Given the description of an element on the screen output the (x, y) to click on. 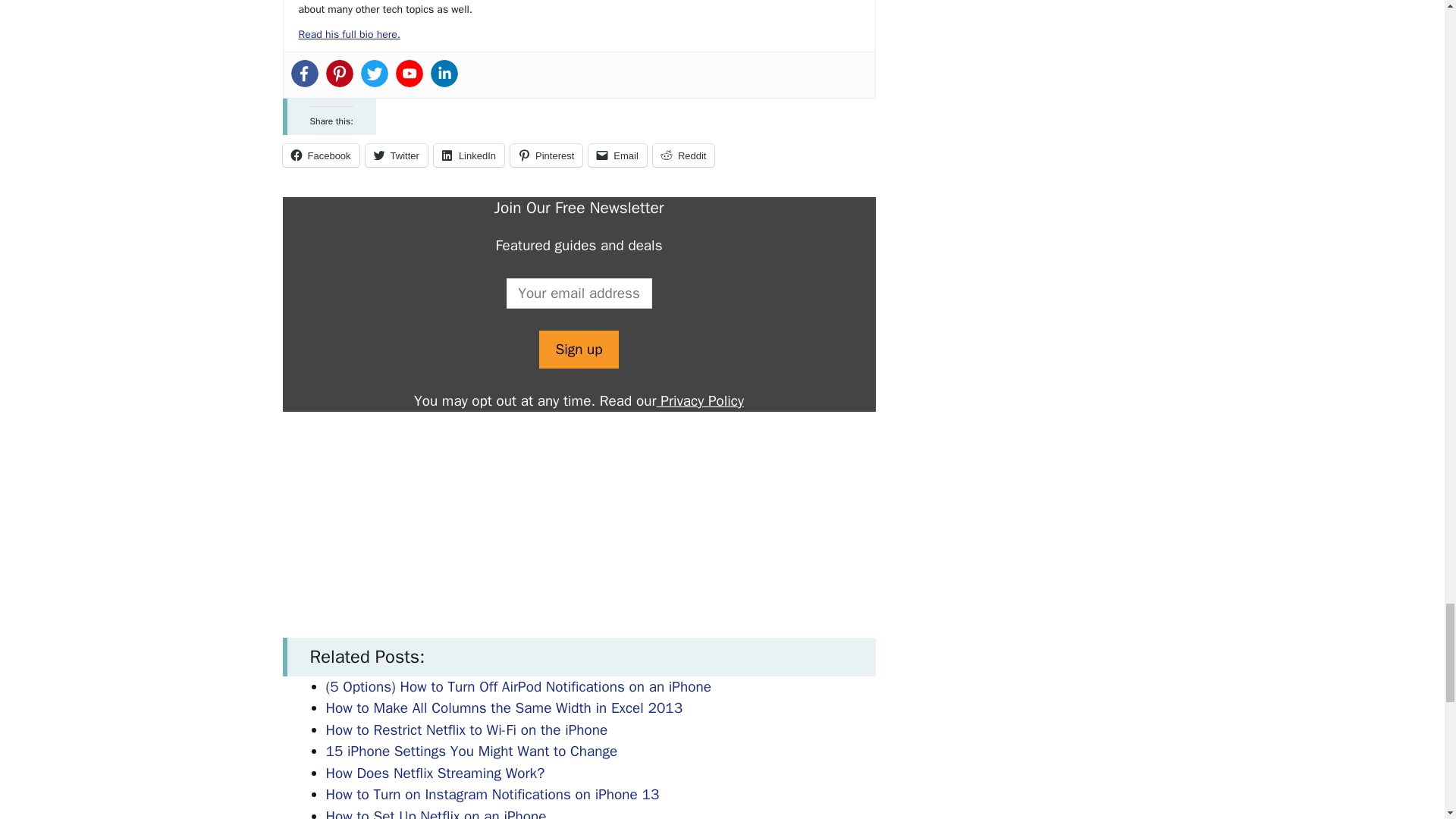
How to Set Up Netflix on an iPhone (436, 812)
Click to share on Facebook (320, 155)
Linkedin (444, 72)
Click to share on Twitter (396, 155)
Click to share on LinkedIn (468, 155)
Twitter (374, 72)
Youtube (409, 72)
Reddit (683, 155)
Privacy Policy (700, 401)
How to Make All Columns the Same Width in Excel 2013 (504, 708)
